Given the description of an element on the screen output the (x, y) to click on. 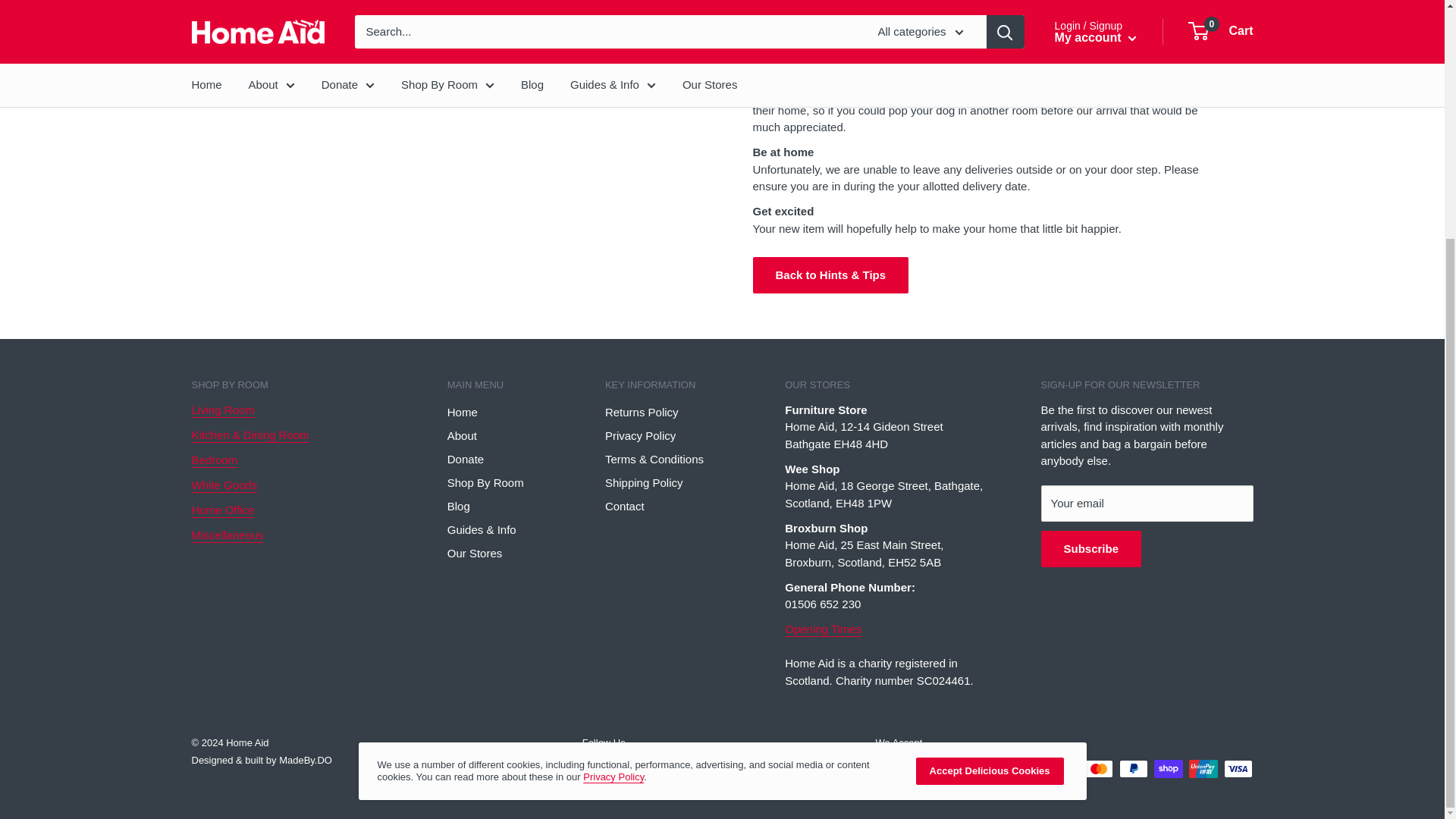
White goods (223, 484)
Miscellaneous (226, 534)
Bedroom (213, 459)
Privacy Policy (613, 448)
Living Room (221, 409)
Home Office (221, 509)
Our Stores (822, 628)
